Given the description of an element on the screen output the (x, y) to click on. 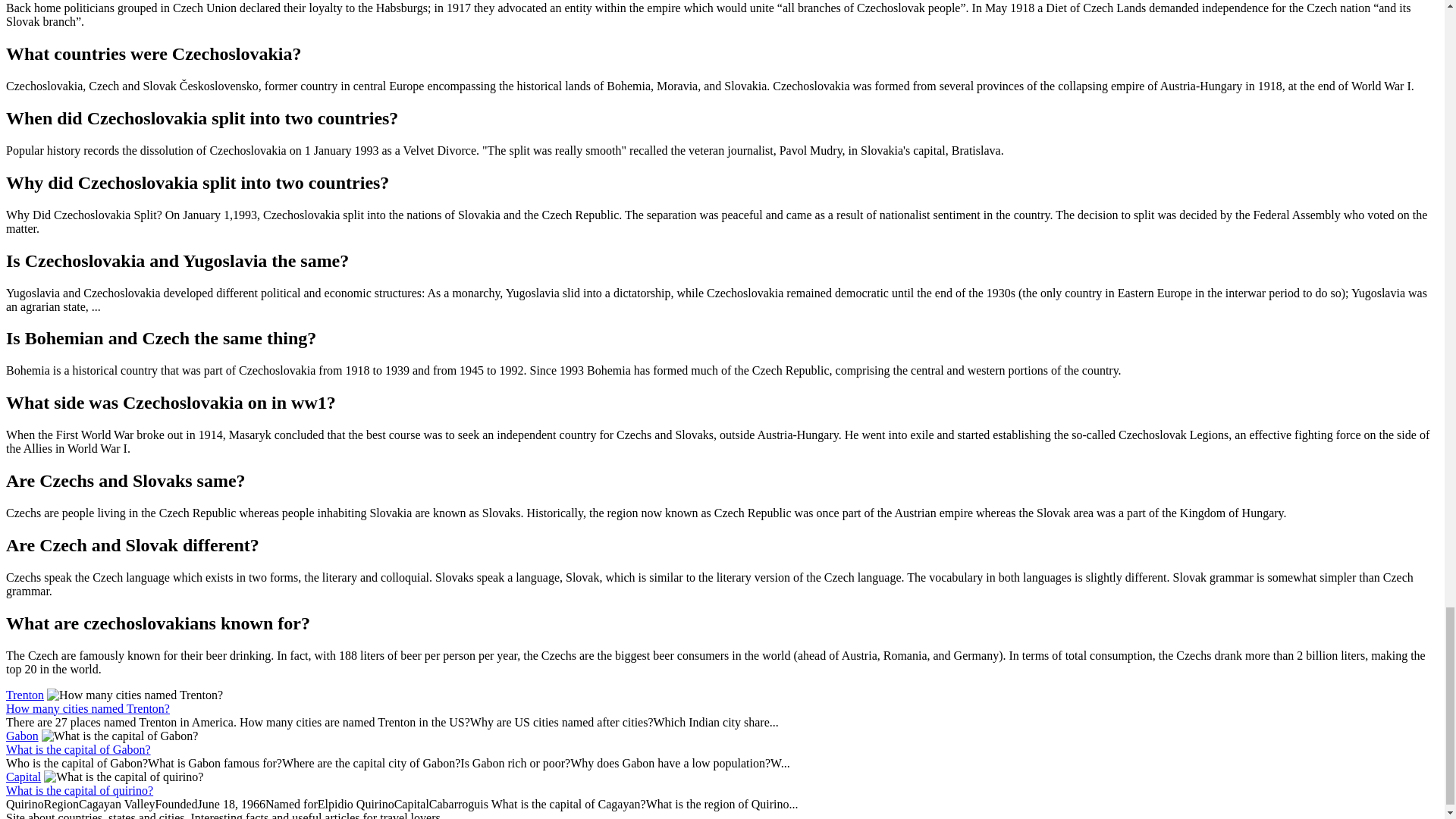
Gabon (22, 735)
Capital (22, 776)
Trenton (24, 694)
How many cities named Trenton? (87, 707)
What is the capital of Gabon? (78, 748)
